Given the description of an element on the screen output the (x, y) to click on. 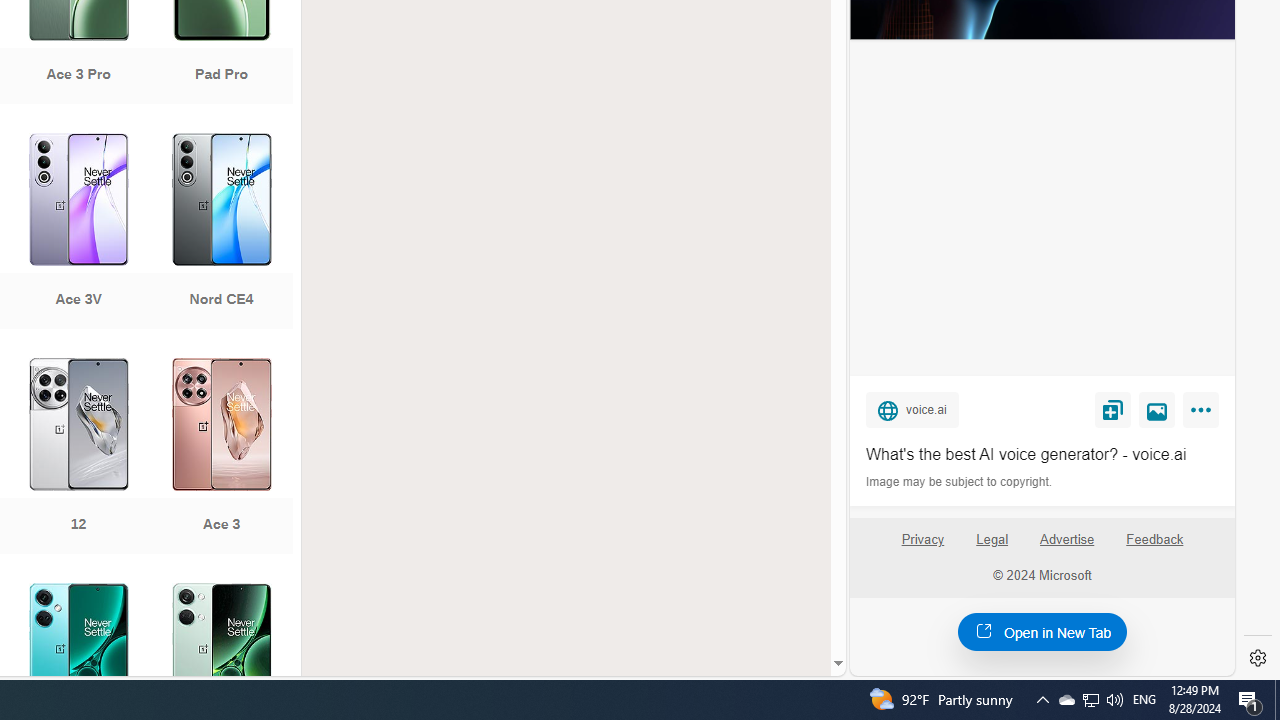
Settings (1258, 658)
Ace 3V (77, 233)
Privacy (922, 539)
Legal (992, 547)
More (1204, 413)
Advertise (1067, 547)
Ace 3 (221, 458)
12 (77, 458)
View image (1157, 409)
Save (1112, 409)
Image may be subject to copyright. (959, 481)
